Given the description of an element on the screen output the (x, y) to click on. 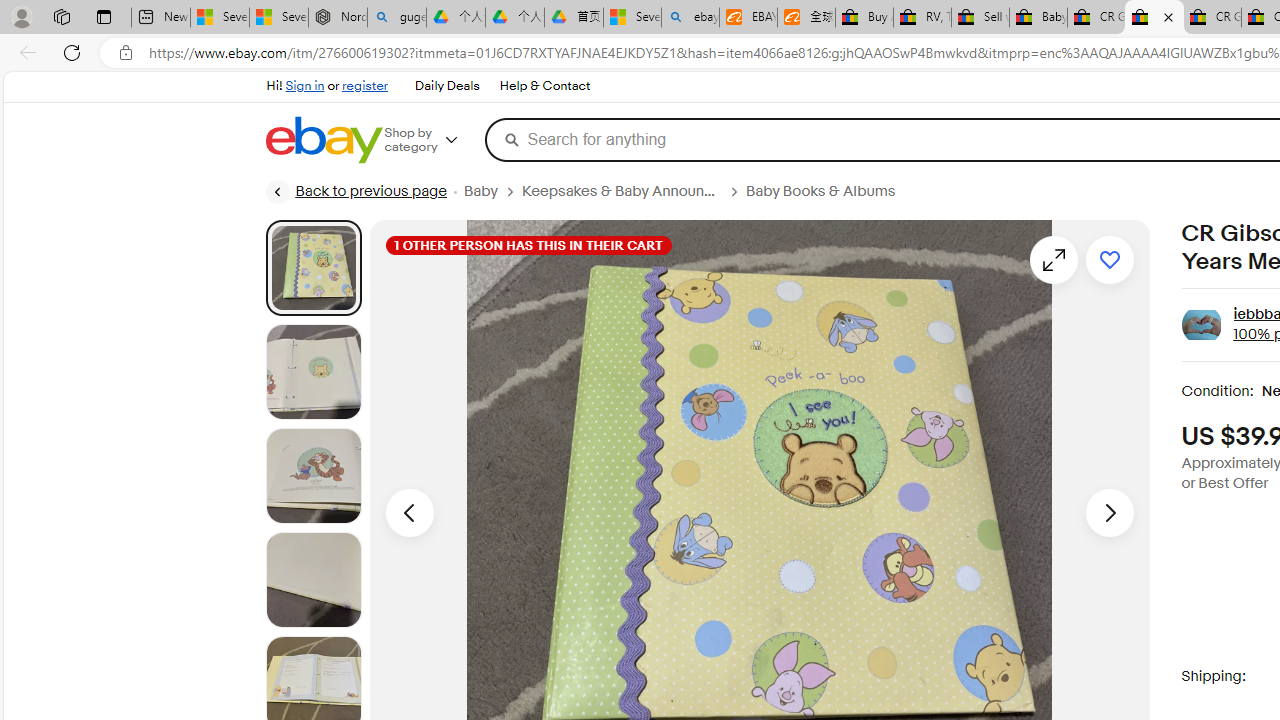
Baby (492, 191)
Back to previous page (355, 191)
Picture 3 of 22 (313, 475)
Picture 1 of 22 (313, 267)
eBay Home (323, 139)
Picture 2 of 22 (313, 371)
Baby (480, 191)
Sell worldwide with eBay (980, 17)
Buy Auto Parts & Accessories | eBay (864, 17)
guge yunpan - Search (396, 17)
RV, Trailer & Camper Steps & Ladders for sale | eBay (922, 17)
